Given the description of an element on the screen output the (x, y) to click on. 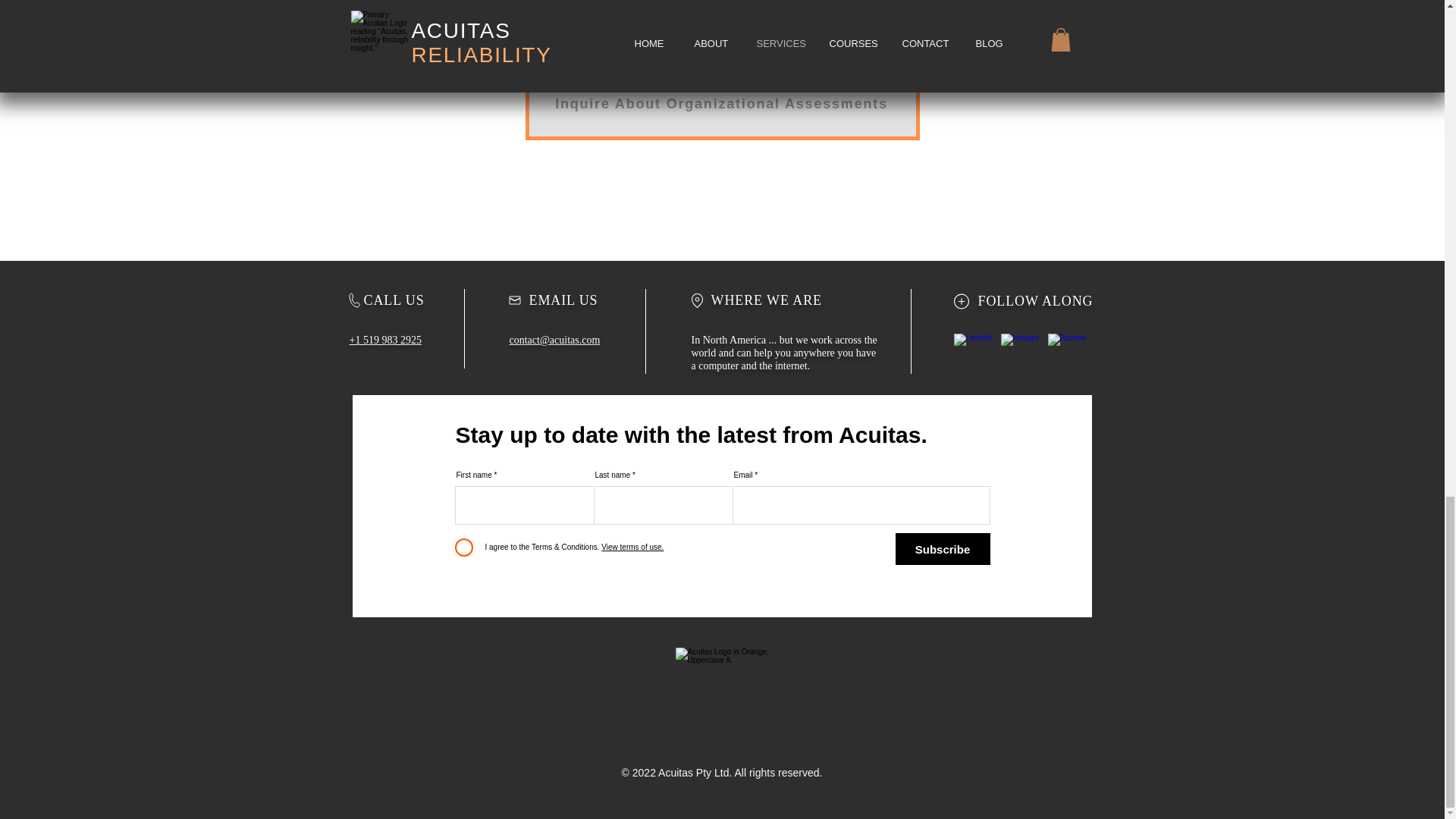
Subscribe (942, 549)
View terms of use. (631, 546)
Inquire About Organizational Assessments (721, 103)
